Given the description of an element on the screen output the (x, y) to click on. 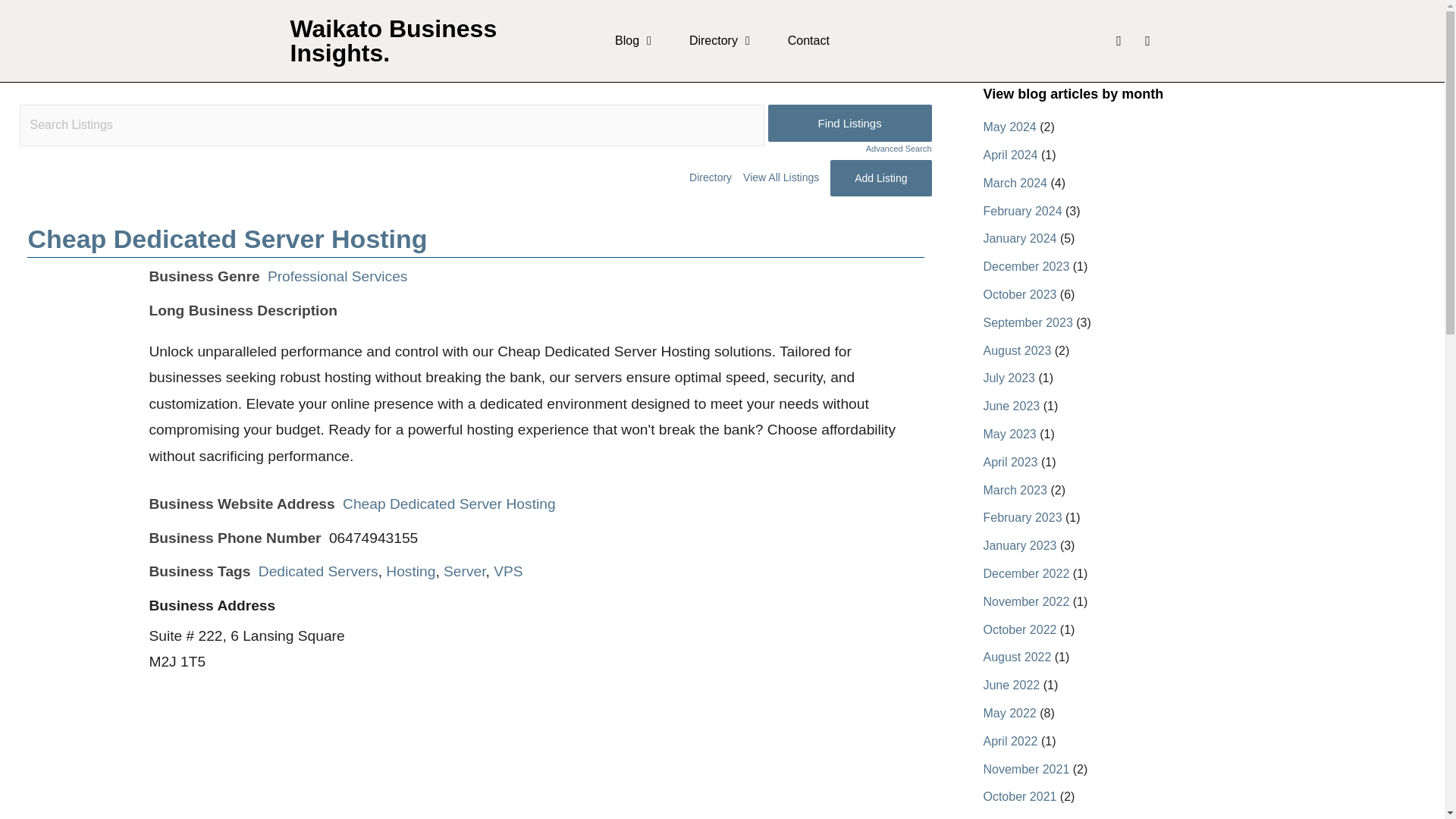
Hosting (410, 571)
Directory (718, 40)
Quick search keywords (391, 125)
Cheap Dedicated Server Hosting (449, 503)
September 2023 (1026, 322)
March 2024 (1014, 182)
Find Listings (849, 122)
Cheap Dedicated Server Hosting (226, 238)
Cheap Dedicated Server Hosting (449, 503)
Directory (710, 177)
Add Listing (880, 177)
October 2023 (1019, 294)
VPS (507, 571)
Advanced Search (849, 149)
April 2024 (1009, 154)
